Given the description of an element on the screen output the (x, y) to click on. 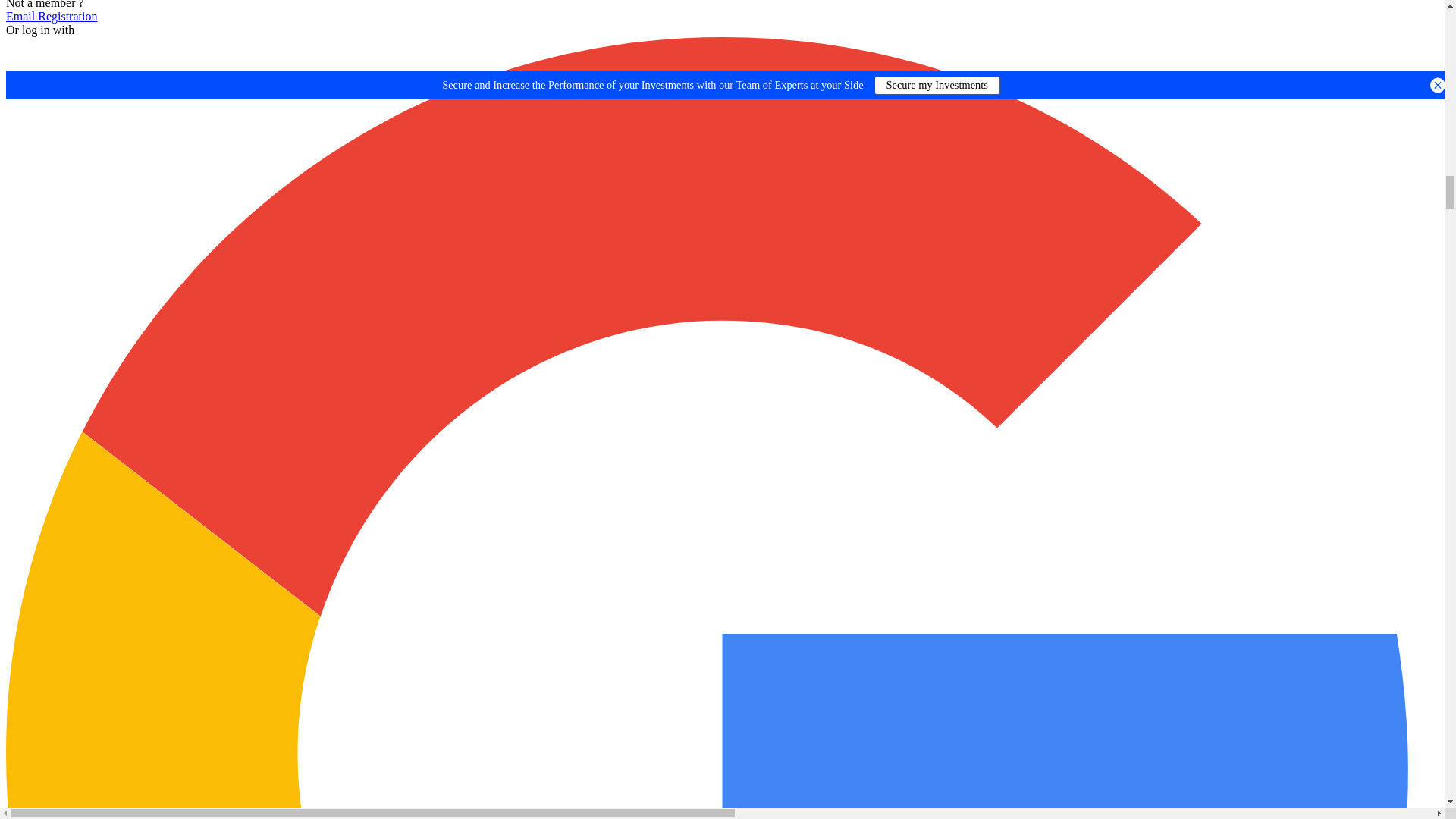
Email Registration (51, 15)
